Given the description of an element on the screen output the (x, y) to click on. 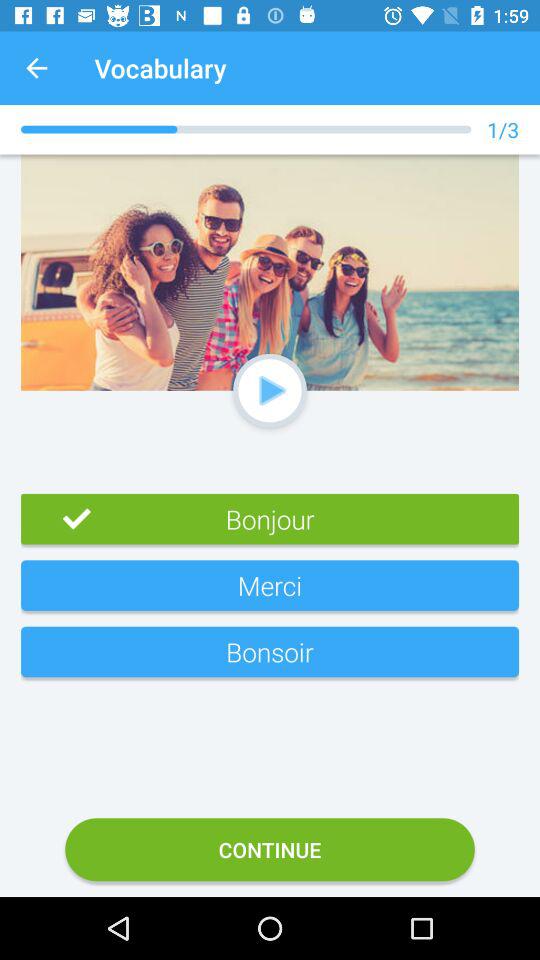
open icon below the bonsoir (269, 849)
